Given the description of an element on the screen output the (x, y) to click on. 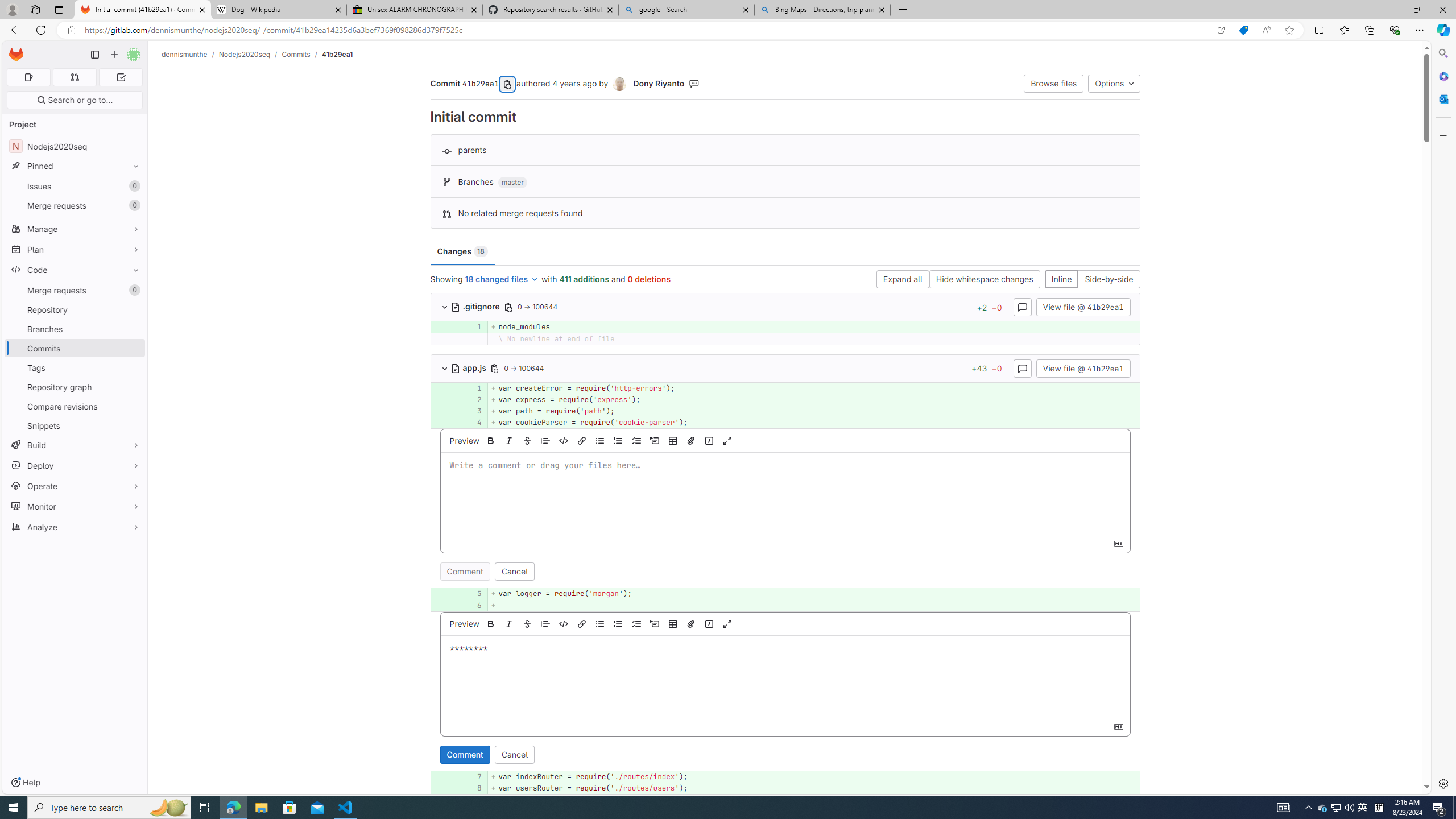
Nodejs2020seq (244, 53)
+ var path = require('path');  (813, 410)
Manage (74, 228)
Copy file path (494, 368)
Create new... (113, 54)
.gitignore  (476, 306)
Tags (74, 367)
Add bold text (Ctrl+B) (490, 623)
Manage (74, 228)
41b29ea1 (337, 53)
Dony Riyanto's avatar (620, 83)
